Given the description of an element on the screen output the (x, y) to click on. 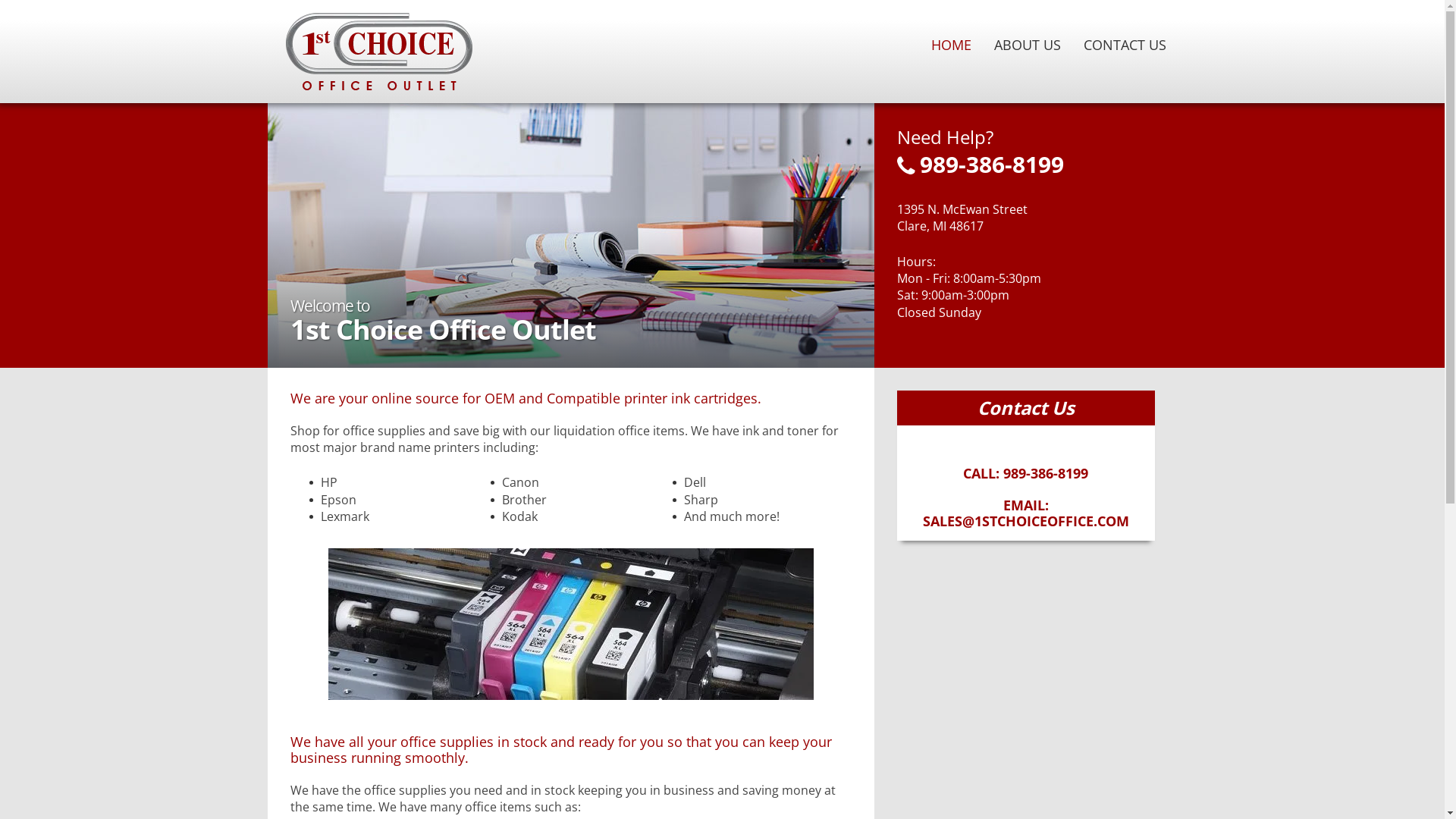
HOME Element type: text (950, 44)
CONTACT US Element type: text (1124, 44)
ABOUT US Element type: text (1027, 44)
989-386-8199 Element type: text (1036, 158)
